Given the description of an element on the screen output the (x, y) to click on. 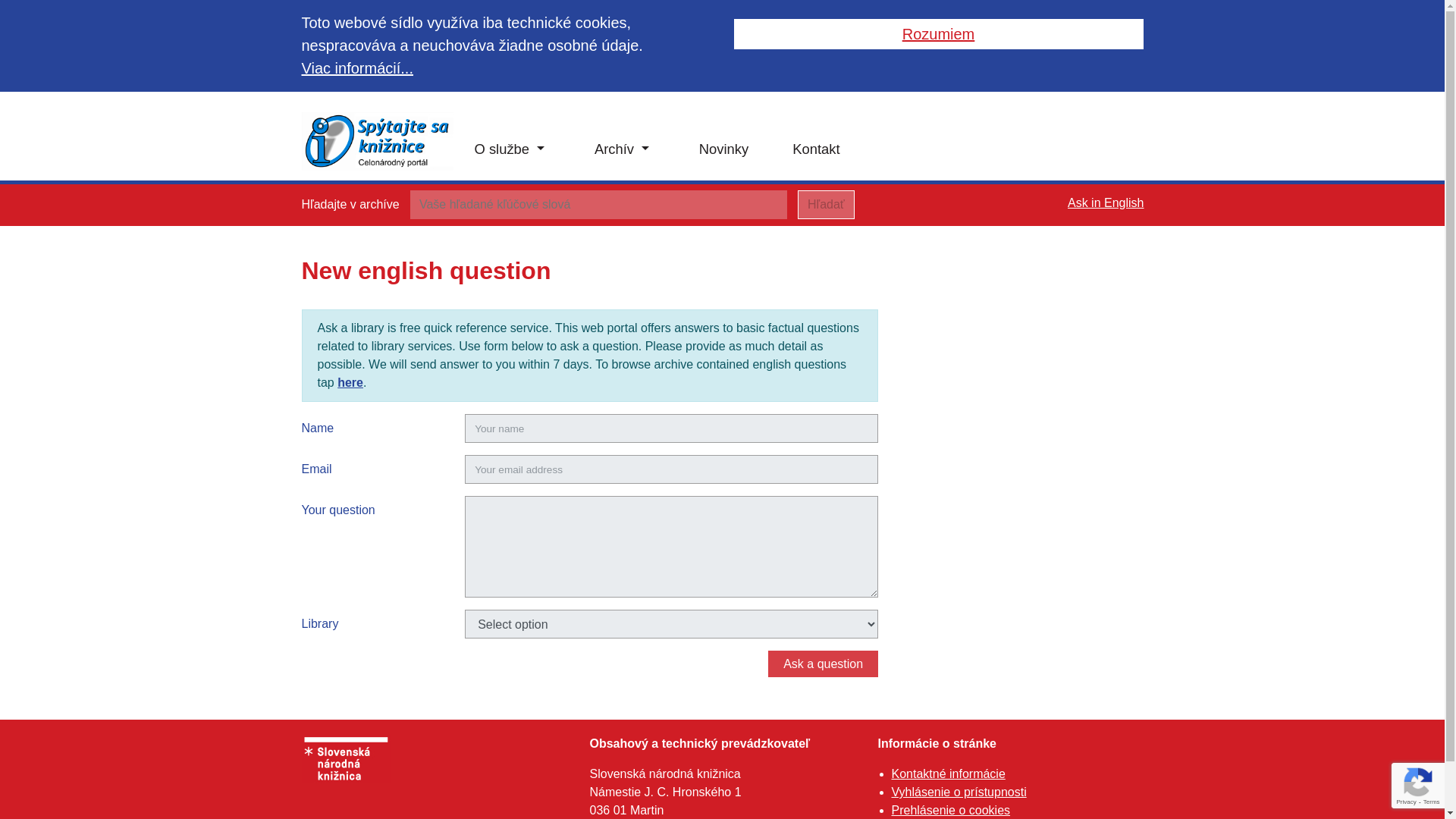
Ask a question (822, 663)
Your email address (670, 469)
Ask a question (822, 663)
here (349, 382)
Your name (670, 428)
Novinky (723, 149)
Ask a question (822, 663)
Rozumiem (937, 33)
Ask in English (1105, 202)
Kontakt (816, 149)
